Given the description of an element on the screen output the (x, y) to click on. 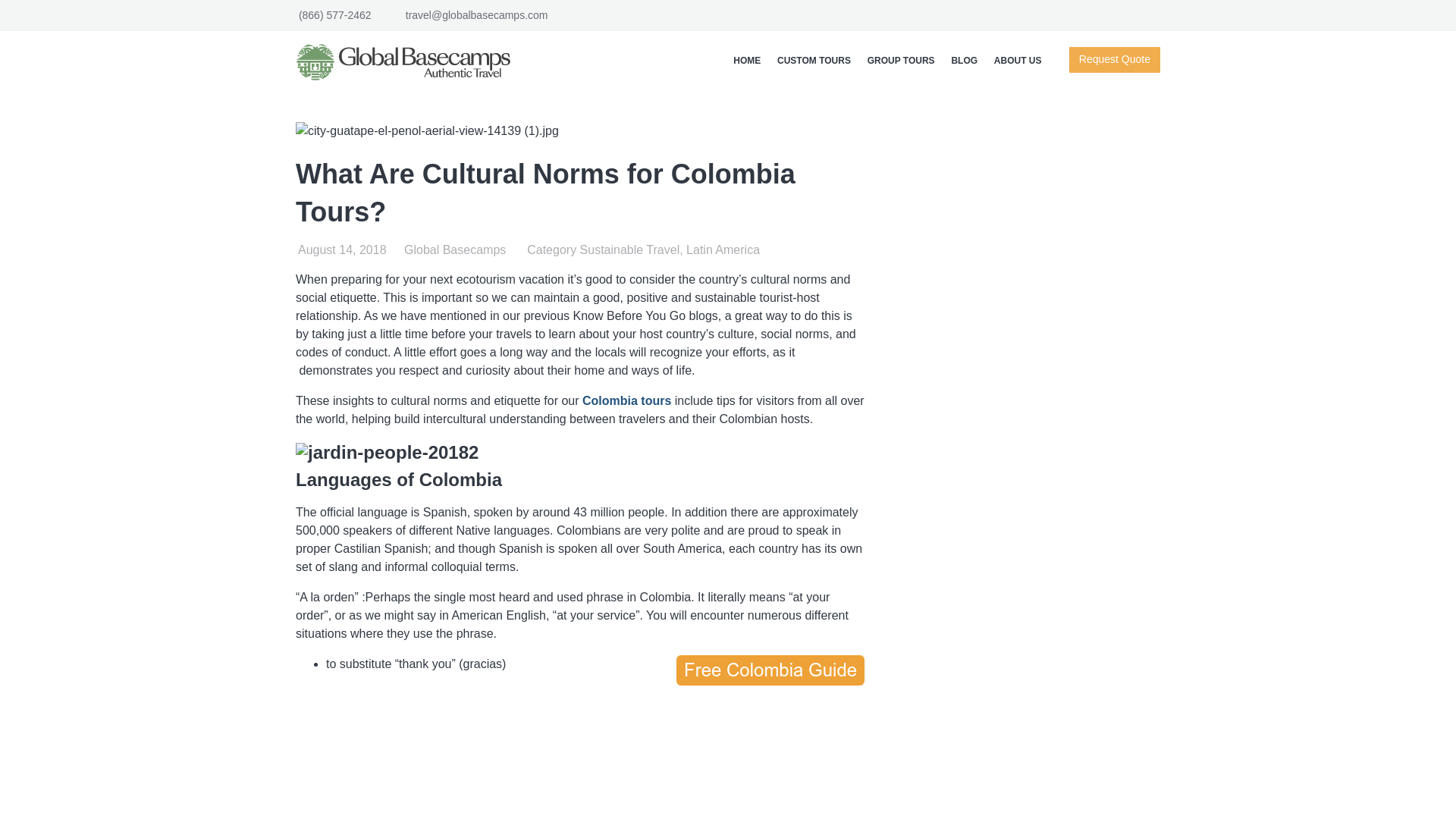
CUSTOM TOURS (813, 60)
HOME (746, 60)
logo.png (408, 62)
